Given the description of an element on the screen output the (x, y) to click on. 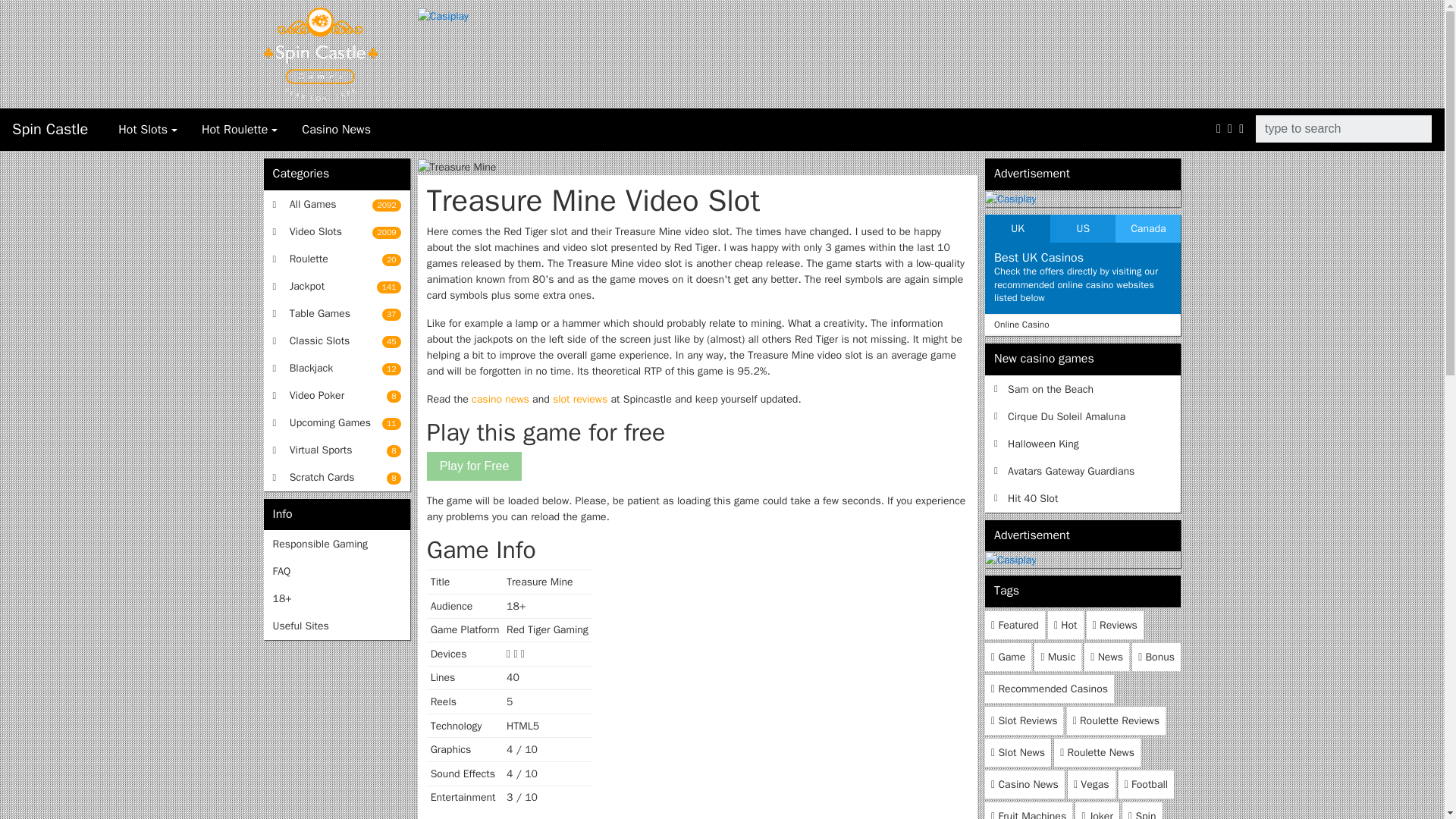
Avatars Gateway Guardians (1082, 470)
Hit 40 slot (336, 285)
Hot Roulette (336, 395)
Halloween King slot is not available in the UK (1082, 497)
